Given the description of an element on the screen output the (x, y) to click on. 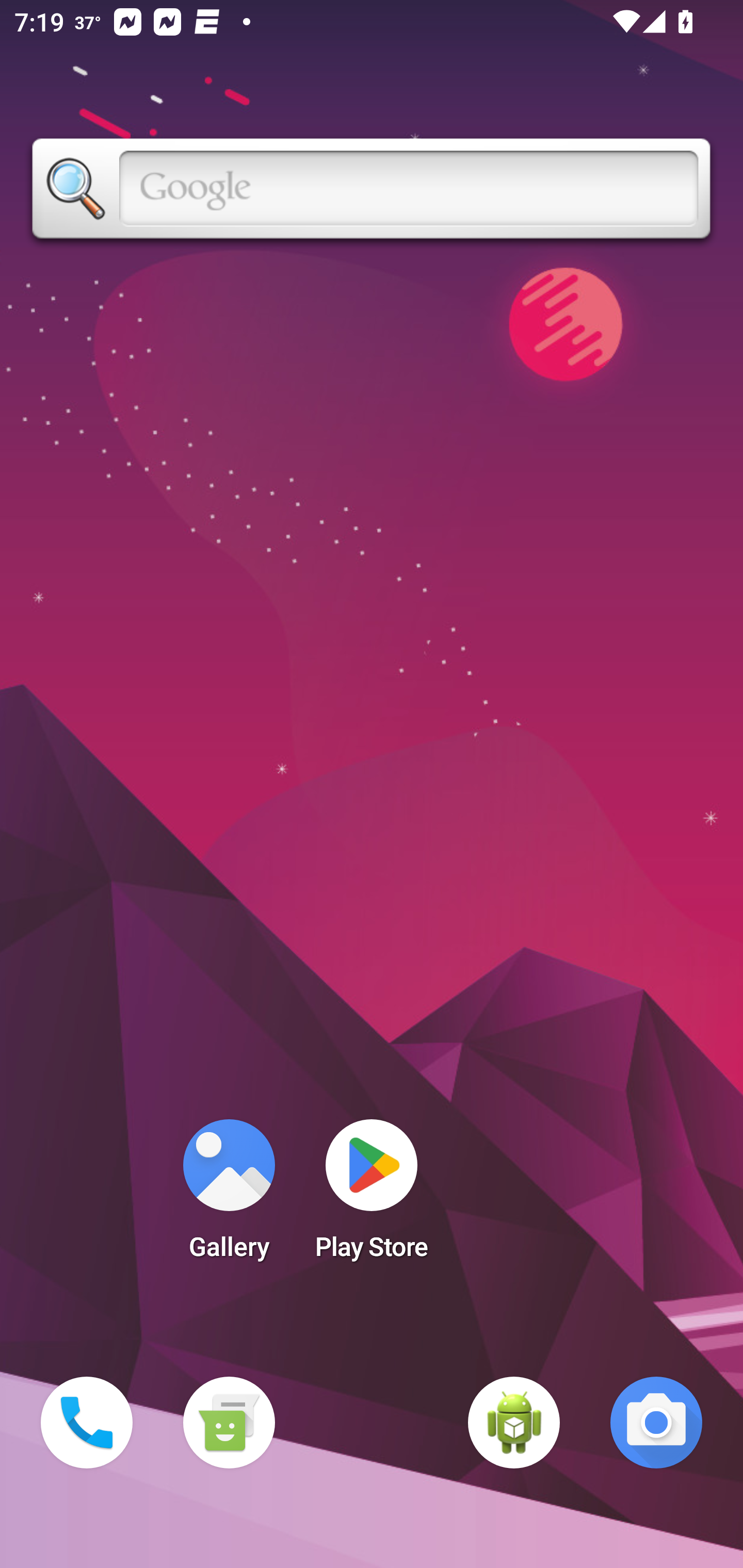
Gallery (228, 1195)
Play Store (371, 1195)
Phone (86, 1422)
Messaging (228, 1422)
WebView Browser Tester (513, 1422)
Camera (656, 1422)
